Given the description of an element on the screen output the (x, y) to click on. 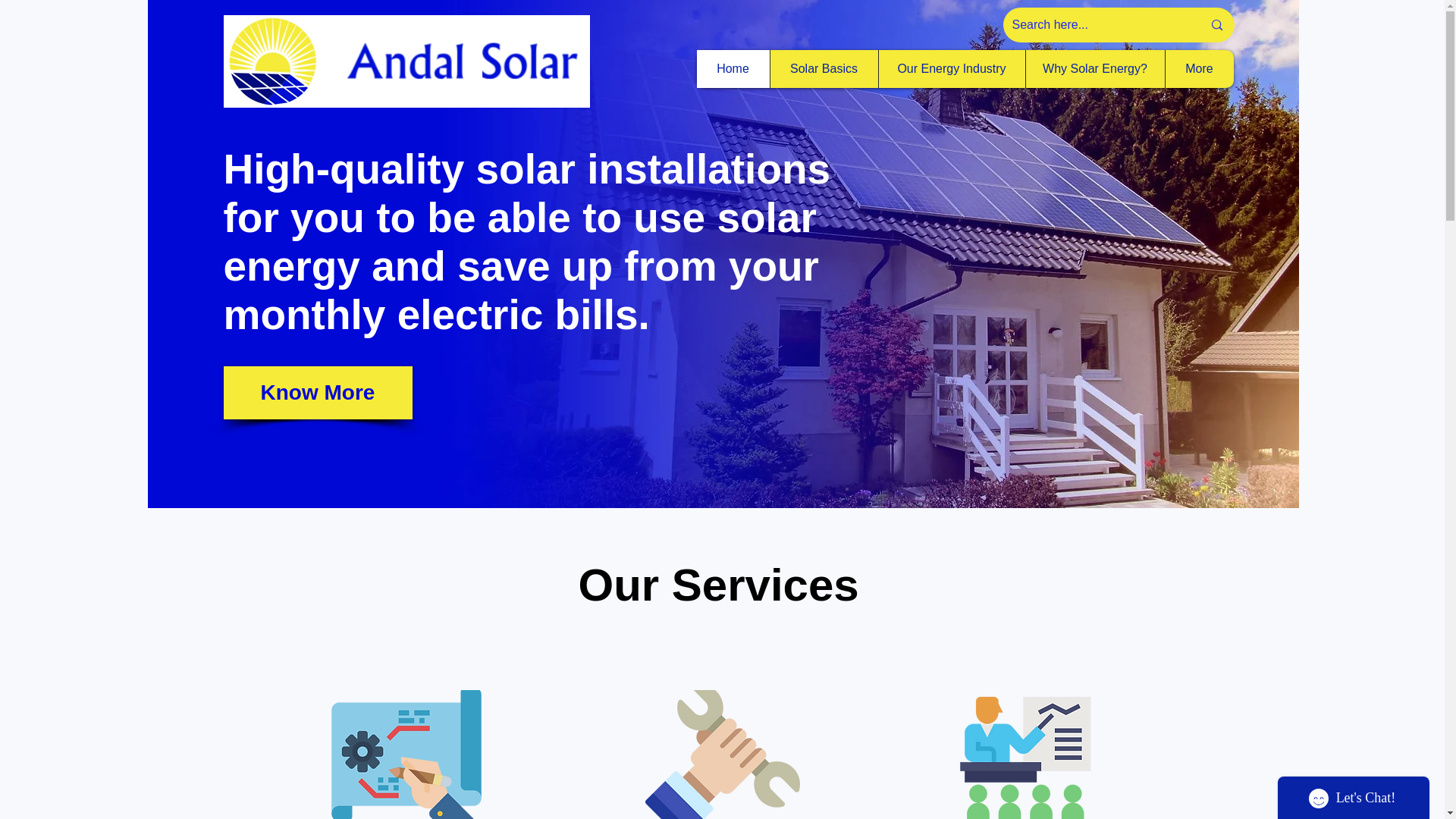
Know More (317, 392)
Why Solar Energy? (1094, 68)
Solar Basics (822, 68)
Our Energy Industry (951, 68)
Home (731, 68)
